Given the description of an element on the screen output the (x, y) to click on. 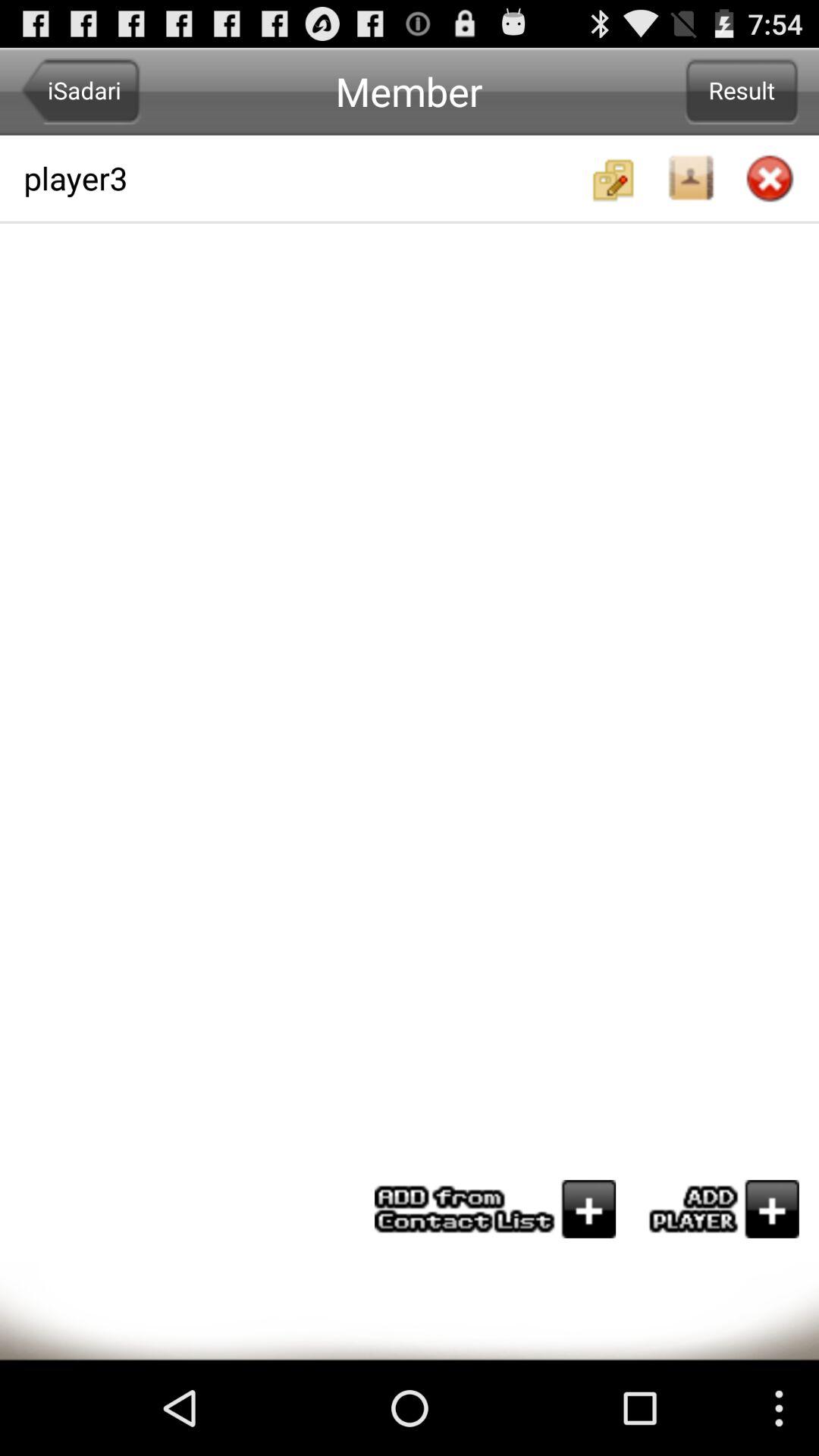
select the item at the top left corner (80, 91)
